Given the description of an element on the screen output the (x, y) to click on. 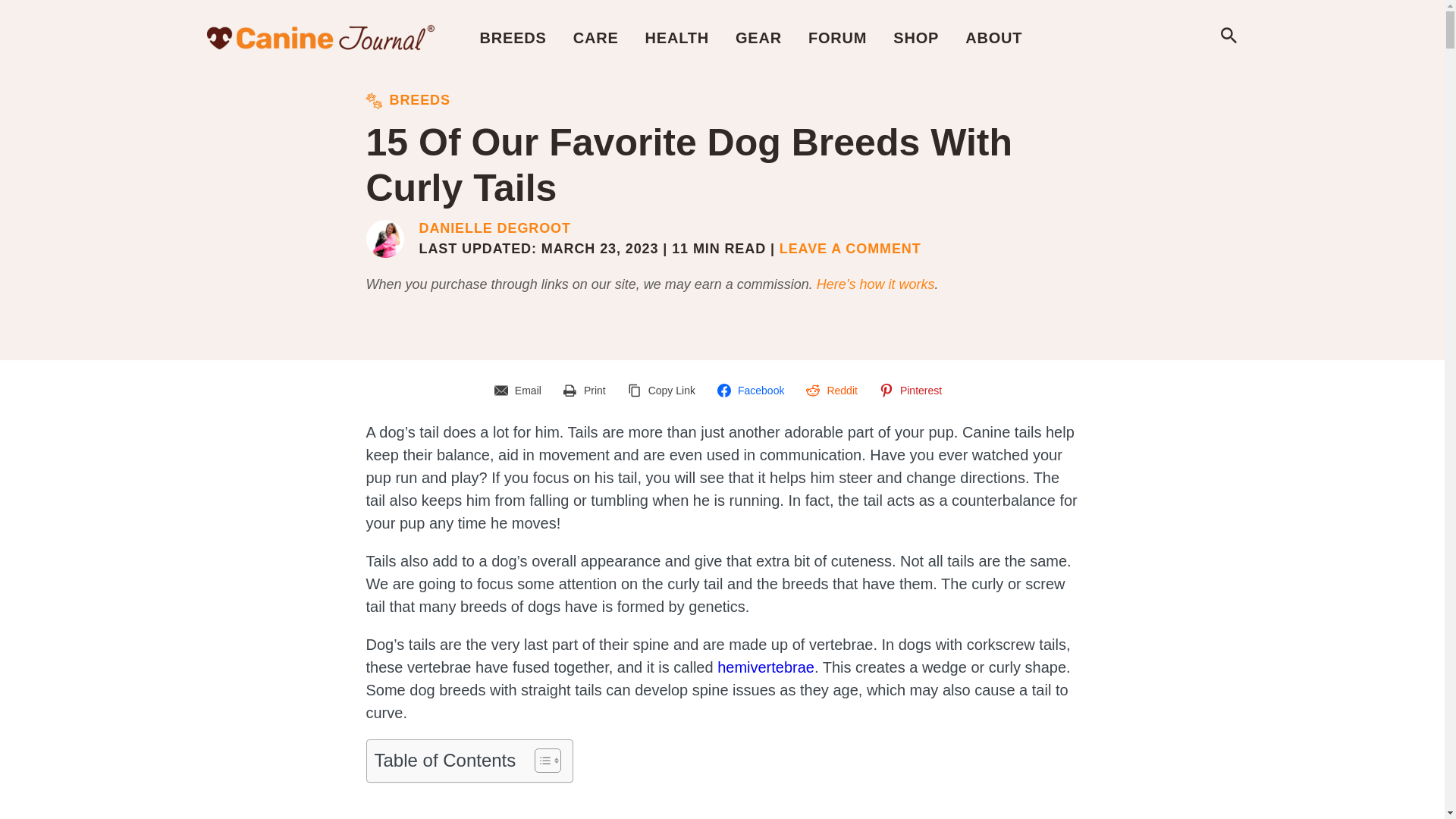
Share on Copy Link (663, 390)
Share on Pinterest (912, 390)
Posts by Danielle DeGroot (494, 228)
HEALTH (677, 37)
ABOUT (993, 37)
Share on Facebook (752, 390)
FORUM (837, 37)
BREEDS (512, 37)
Share on Reddit (833, 390)
Share on Print (586, 390)
Share on Email (520, 390)
